Given the description of an element on the screen output the (x, y) to click on. 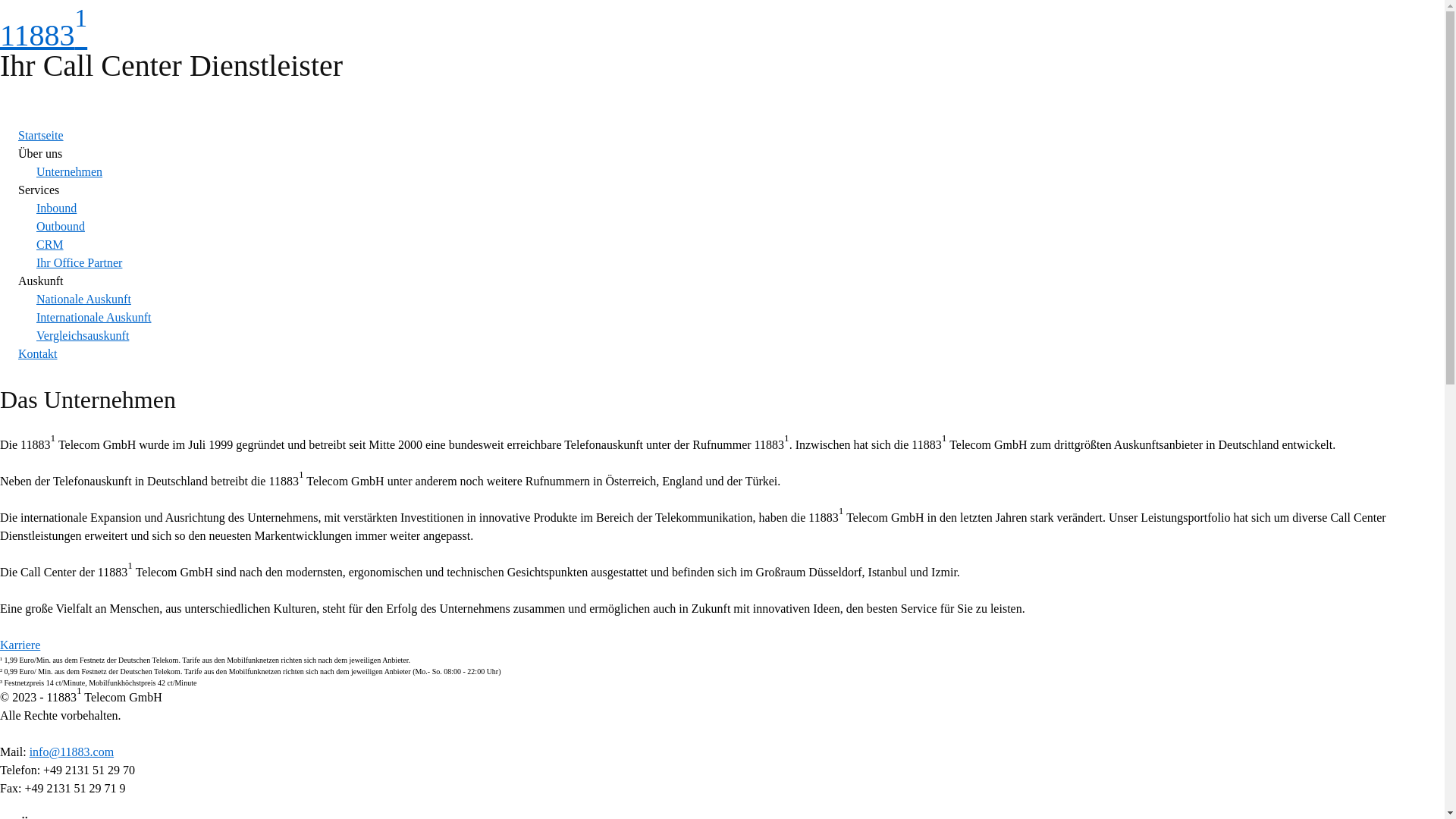
Karriere Element type: text (20, 644)
Internationale Auskunft Element type: text (93, 316)
Startseite Element type: text (40, 134)
info@11883.com Element type: text (71, 751)
118831 Element type: text (43, 35)
Nationale Auskunft Element type: text (83, 298)
Ihr Office Partner Element type: text (79, 262)
CRM Element type: text (49, 244)
Outbound Element type: text (60, 225)
Kontakt Element type: text (37, 353)
Unternehmen Element type: text (69, 171)
Inbound Element type: text (56, 207)
Vergleichsauskunft Element type: text (82, 335)
